Given the description of an element on the screen output the (x, y) to click on. 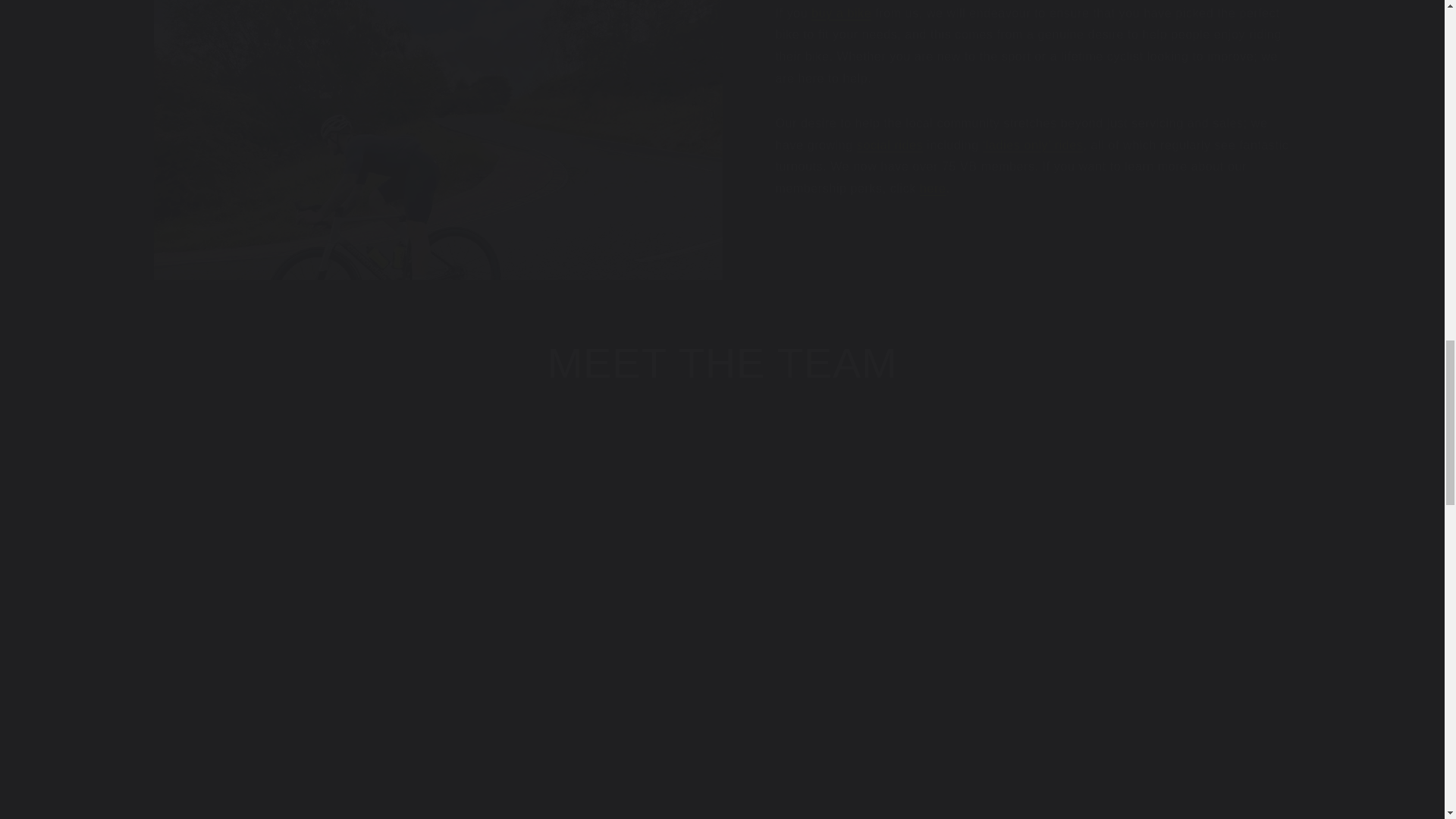
Bikes (840, 12)
Ride with us (890, 144)
Ride with us (1032, 144)
MEET THE TEAM (721, 363)
